Given the description of an element on the screen output the (x, y) to click on. 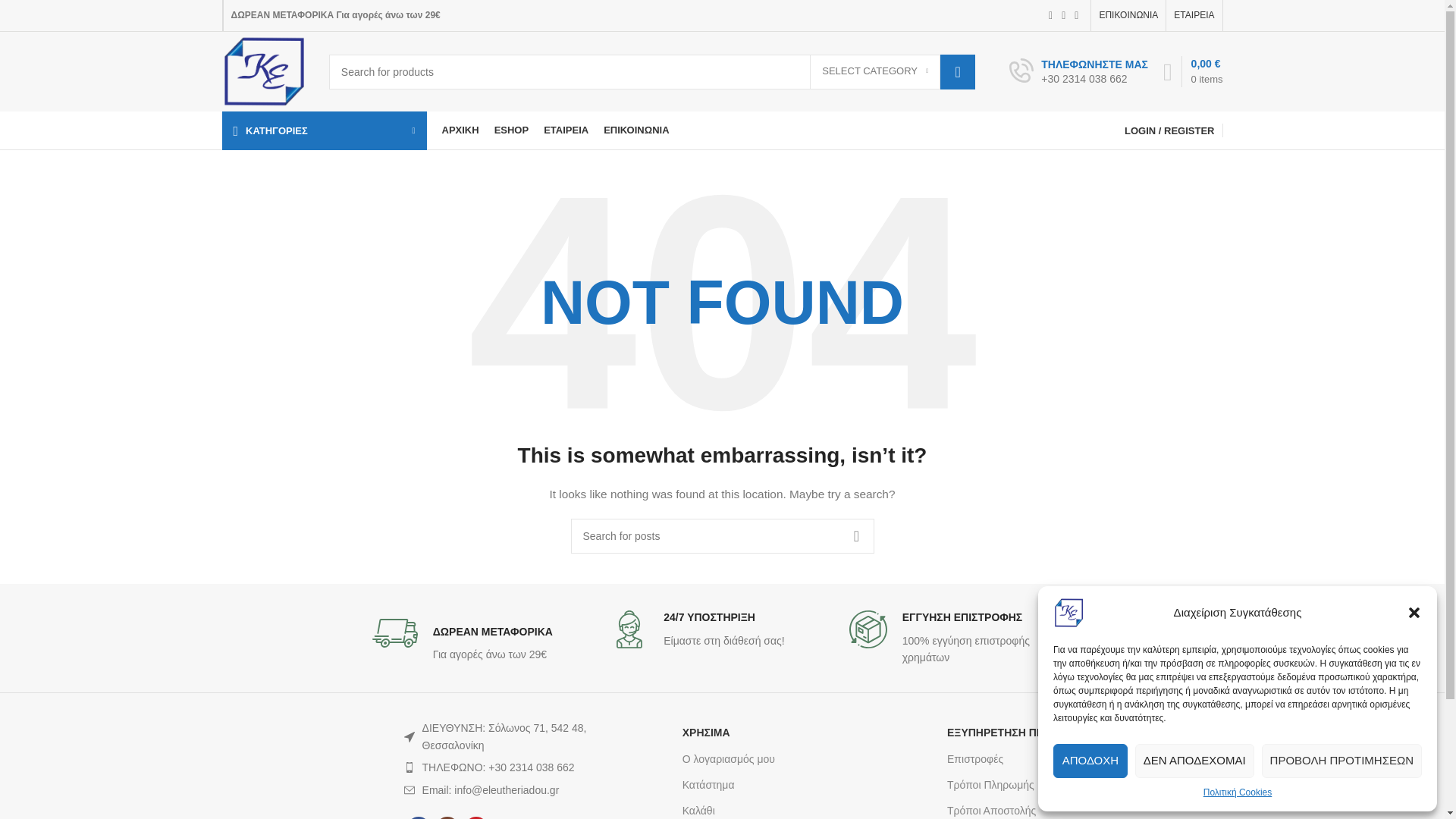
retail-2-return (867, 629)
retail-2-support (628, 629)
retail-2-shipping (394, 633)
Search for products (652, 71)
SELECT CATEGORY (874, 70)
wd-cursor-dark (409, 737)
Search for posts (721, 535)
Shopping cart (1193, 71)
SELECT CATEGORY (874, 70)
wd-envelope-dark (409, 789)
My account (1168, 130)
wd-phone-dark (409, 767)
